Given the description of an element on the screen output the (x, y) to click on. 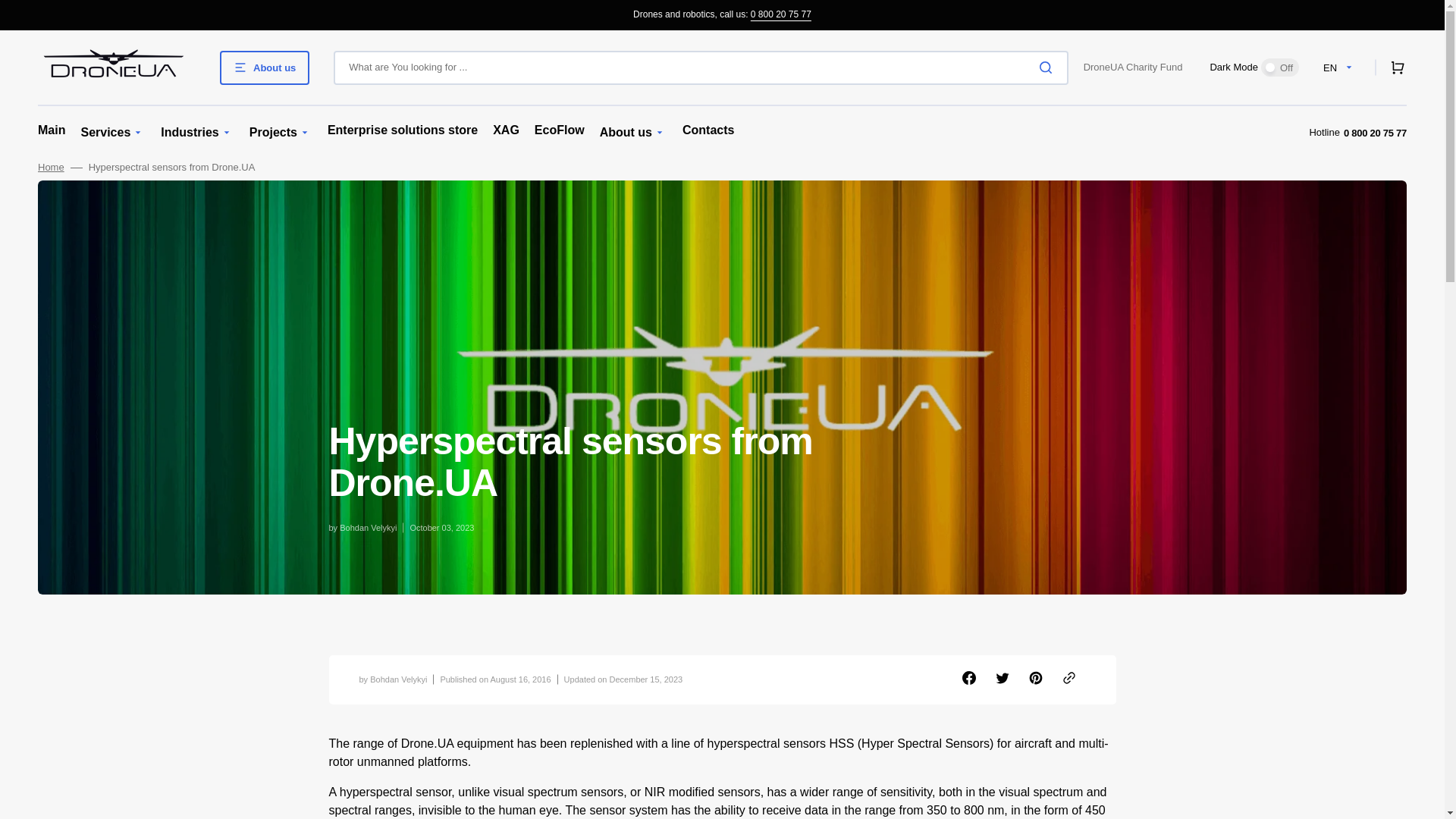
Enterprise solutions store (402, 130)
Projects (272, 132)
Main (51, 130)
XAG (506, 130)
0 800 20 75 77 (780, 14)
Contacts (707, 130)
EcoFlow (559, 130)
tel:0800207577 (780, 14)
Industries (189, 132)
About us (625, 132)
Services (105, 132)
